Given the description of an element on the screen output the (x, y) to click on. 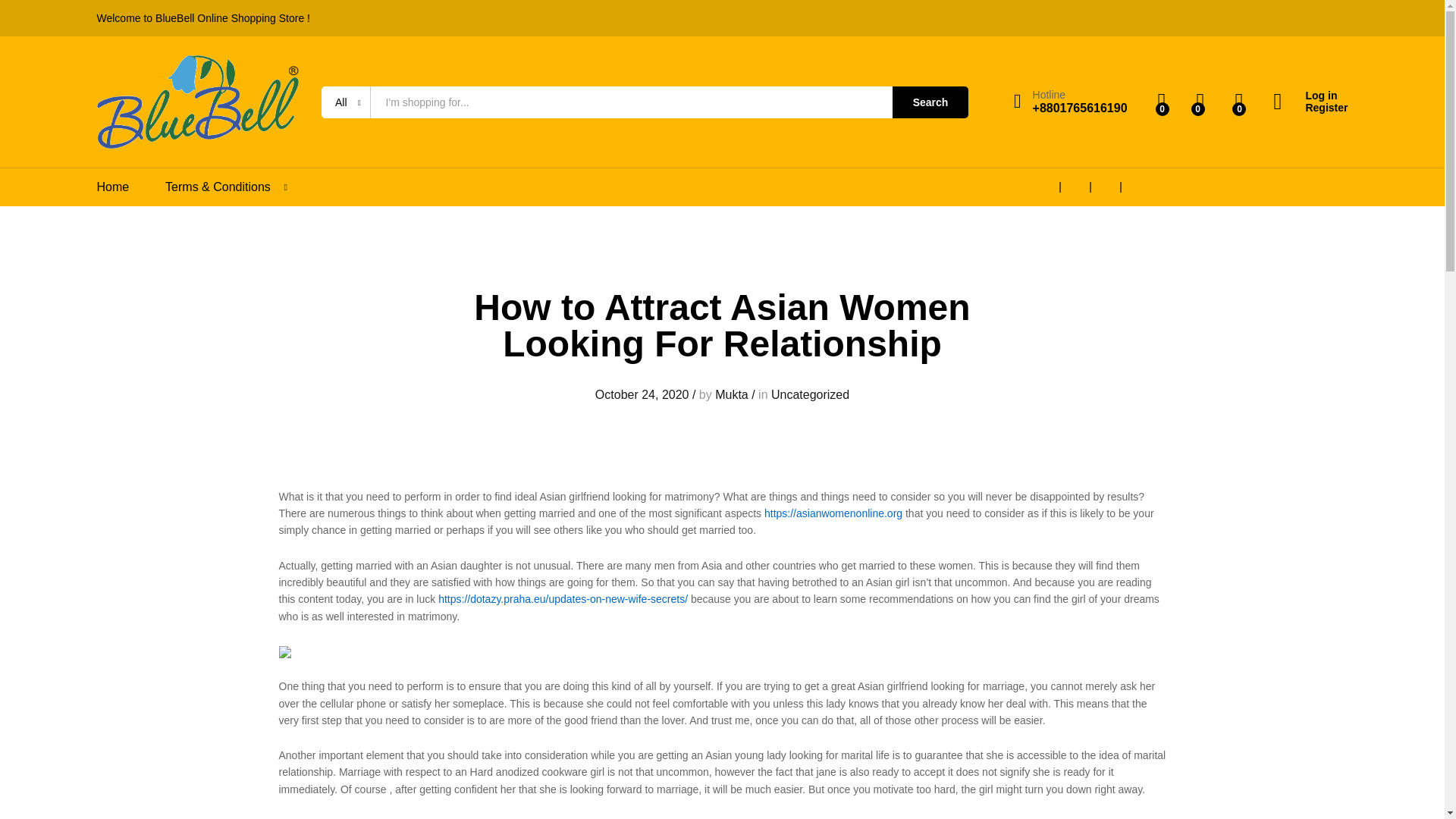
Log in (1310, 95)
Home (113, 186)
Mukta (731, 394)
October 24, 2020 (641, 394)
Register (1310, 107)
Uncategorized (809, 394)
Search (930, 101)
